Given the description of an element on the screen output the (x, y) to click on. 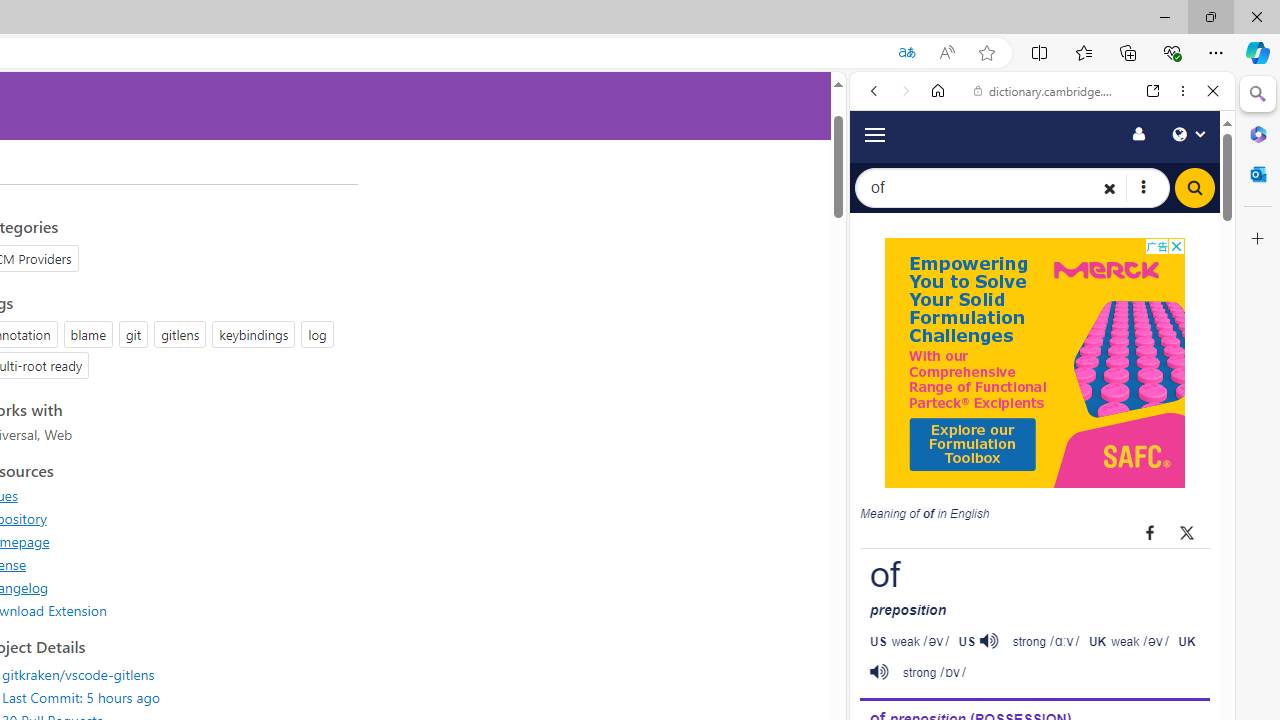
Class: b_serphb (1190, 339)
Advertisement (1034, 363)
Choose a dictionary (1142, 188)
Search Filter, Search Tools (1093, 339)
OF | English meaning - Cambridge Dictionary (1034, 419)
Search Filter, WEB (882, 339)
